Given the description of an element on the screen output the (x, y) to click on. 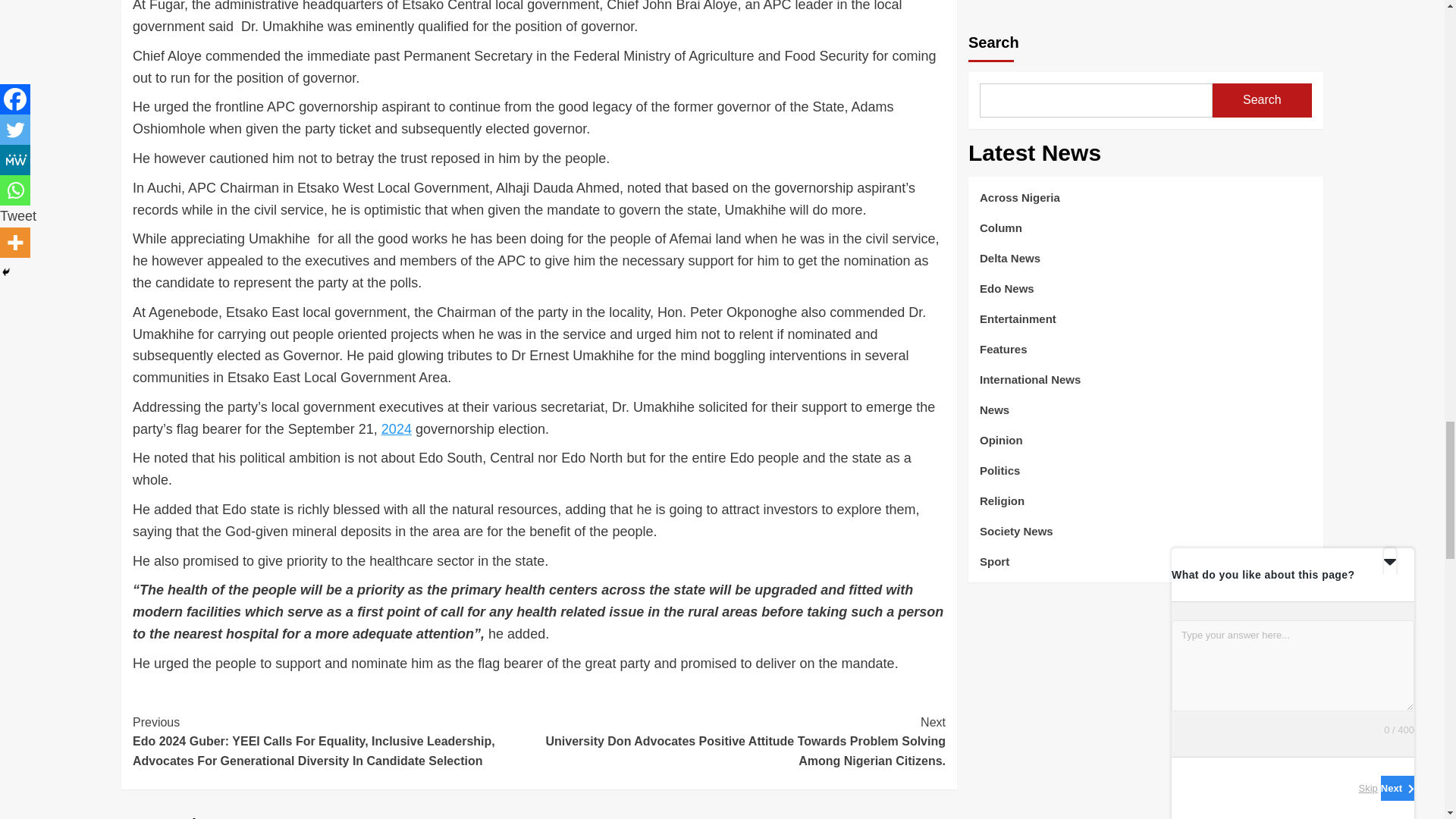
2024 (396, 428)
